Given the description of an element on the screen output the (x, y) to click on. 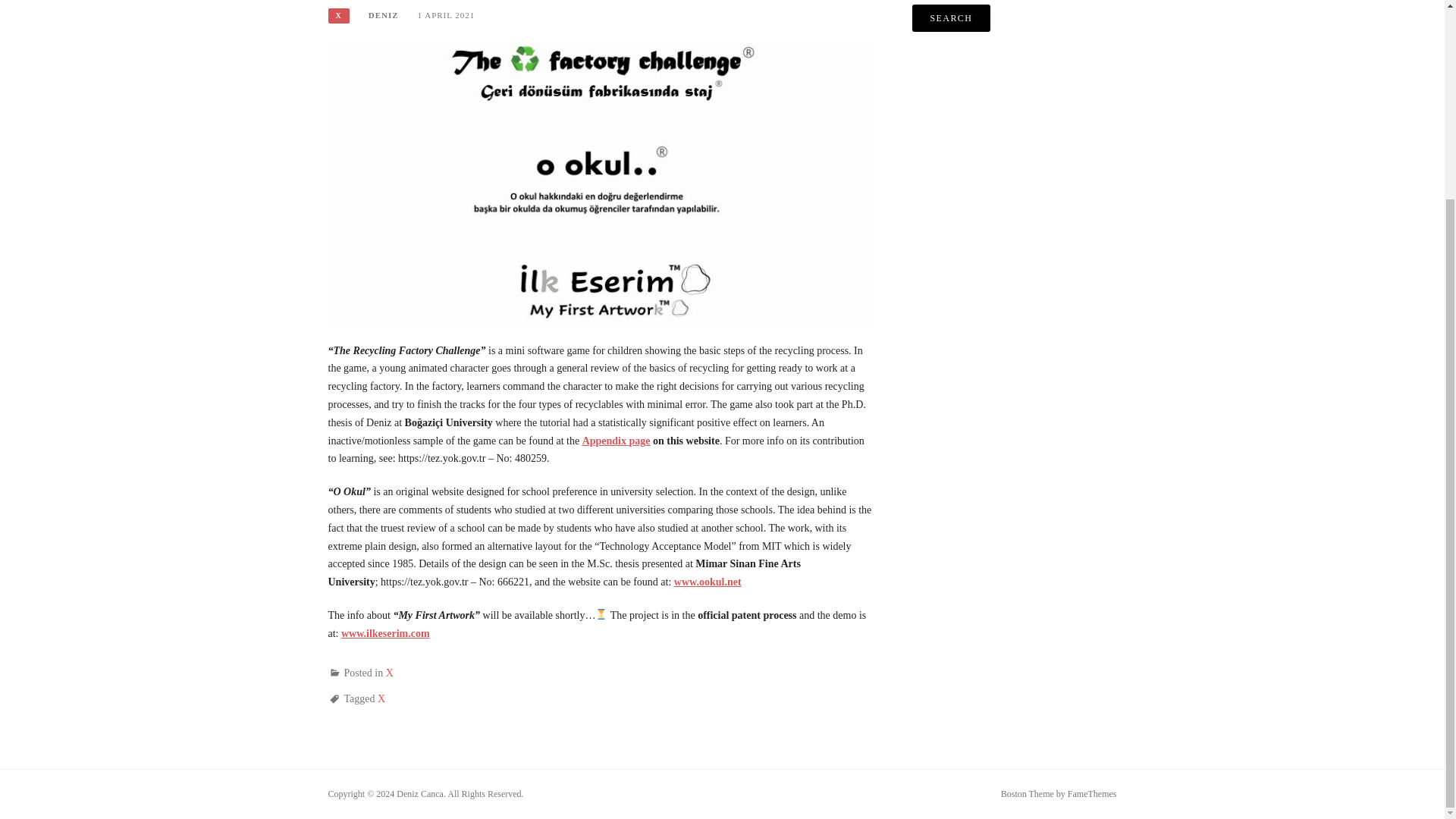
Appendix page (616, 440)
DENIZ (383, 14)
www.ookul.net (707, 582)
FameThemes (1091, 793)
X (338, 15)
Recent Works (600, 183)
www.ilkeserim.com (384, 633)
Search (951, 17)
Search (951, 17)
Search (951, 17)
